Given the description of an element on the screen output the (x, y) to click on. 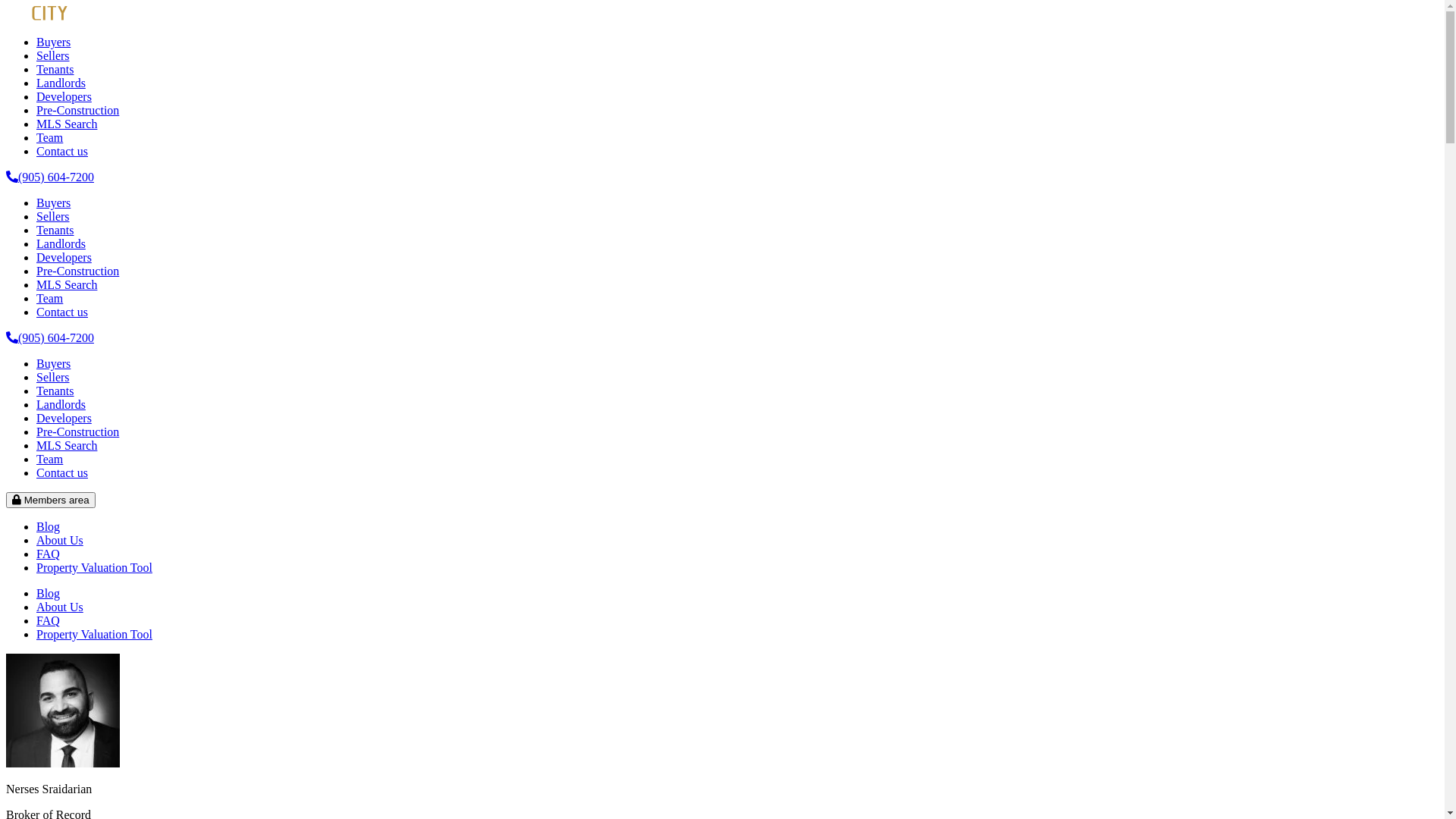
Pre-Construction Element type: text (77, 270)
Team Element type: text (49, 137)
Members area Element type: text (50, 500)
Property Valuation Tool Element type: text (94, 567)
Buyers Element type: text (53, 41)
MLS Search Element type: text (66, 284)
Tenants Element type: text (55, 390)
FAQ Element type: text (47, 553)
Contact us Element type: text (61, 311)
Developers Element type: text (63, 257)
Team Element type: text (49, 297)
MLS Search Element type: text (66, 445)
MLS Search Element type: text (66, 123)
Big City Realty Element type: hover (67, 15)
Tenants Element type: text (55, 68)
Property Valuation Tool Element type: text (94, 633)
Blog Element type: text (47, 526)
Developers Element type: text (63, 417)
Sellers Element type: text (52, 376)
FAQ Element type: text (47, 620)
Team Element type: text (49, 458)
Sellers Element type: text (52, 55)
Landlords Element type: text (60, 82)
Tenants Element type: text (55, 229)
Buyers Element type: text (53, 363)
About Us Element type: text (59, 606)
Landlords Element type: text (60, 243)
Square-Nerses - 2 | Big City Realty Element type: hover (62, 710)
About Us Element type: text (59, 539)
Contact us Element type: text (61, 150)
Pre-Construction Element type: text (77, 109)
Sellers Element type: text (52, 216)
Developers Element type: text (63, 96)
Contact us Element type: text (61, 472)
Buyers Element type: text (53, 202)
Pre-Construction Element type: text (77, 431)
Landlords Element type: text (60, 404)
Blog Element type: text (47, 592)
